Given the description of an element on the screen output the (x, y) to click on. 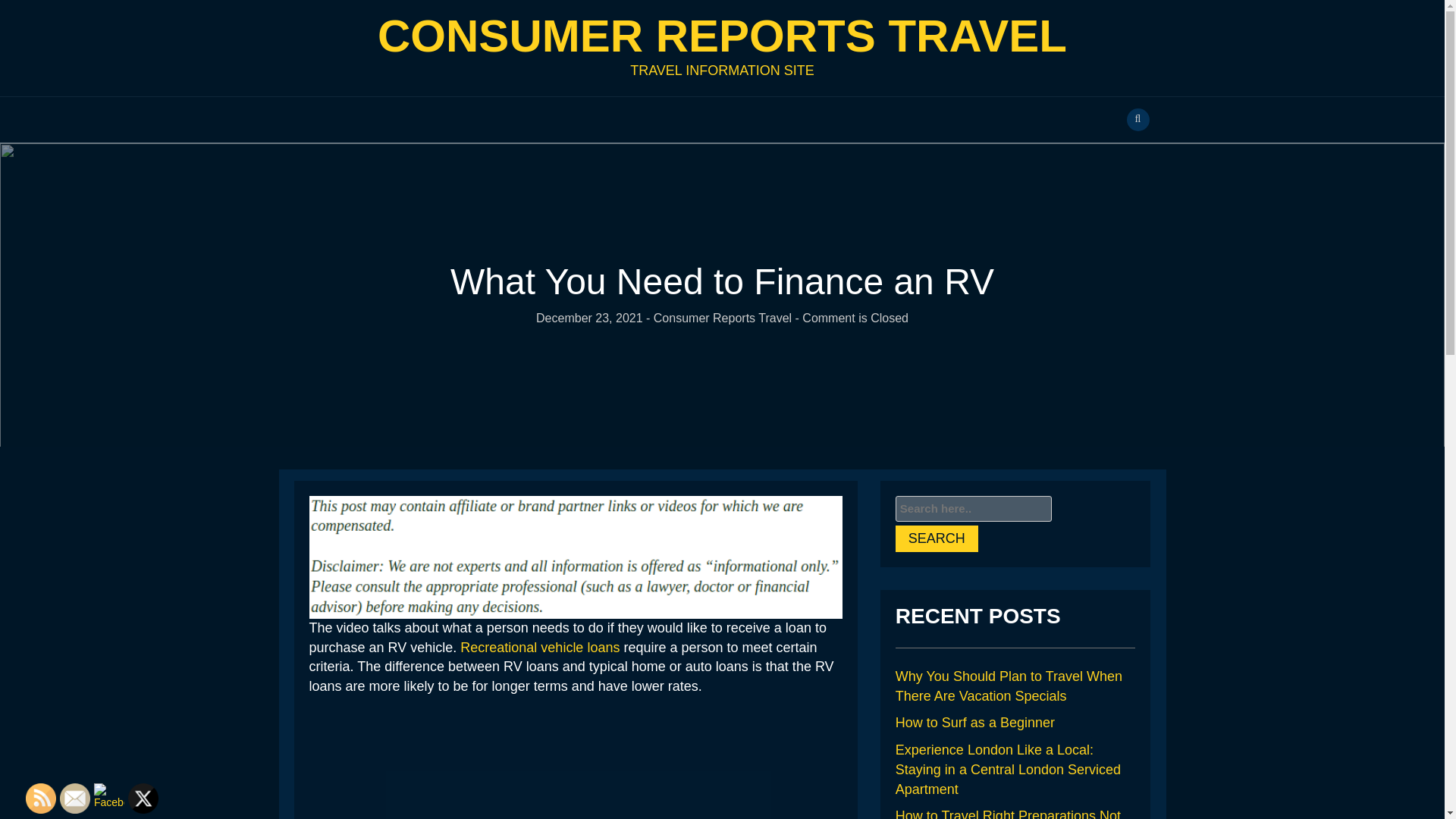
Search (936, 538)
home (722, 35)
Consumer Reports Travel (722, 318)
Follow by Email (74, 798)
Search for: (973, 509)
Facebook (108, 796)
December 23, 2021 (589, 318)
Recreational vehicle loans (540, 647)
